Given the description of an element on the screen output the (x, y) to click on. 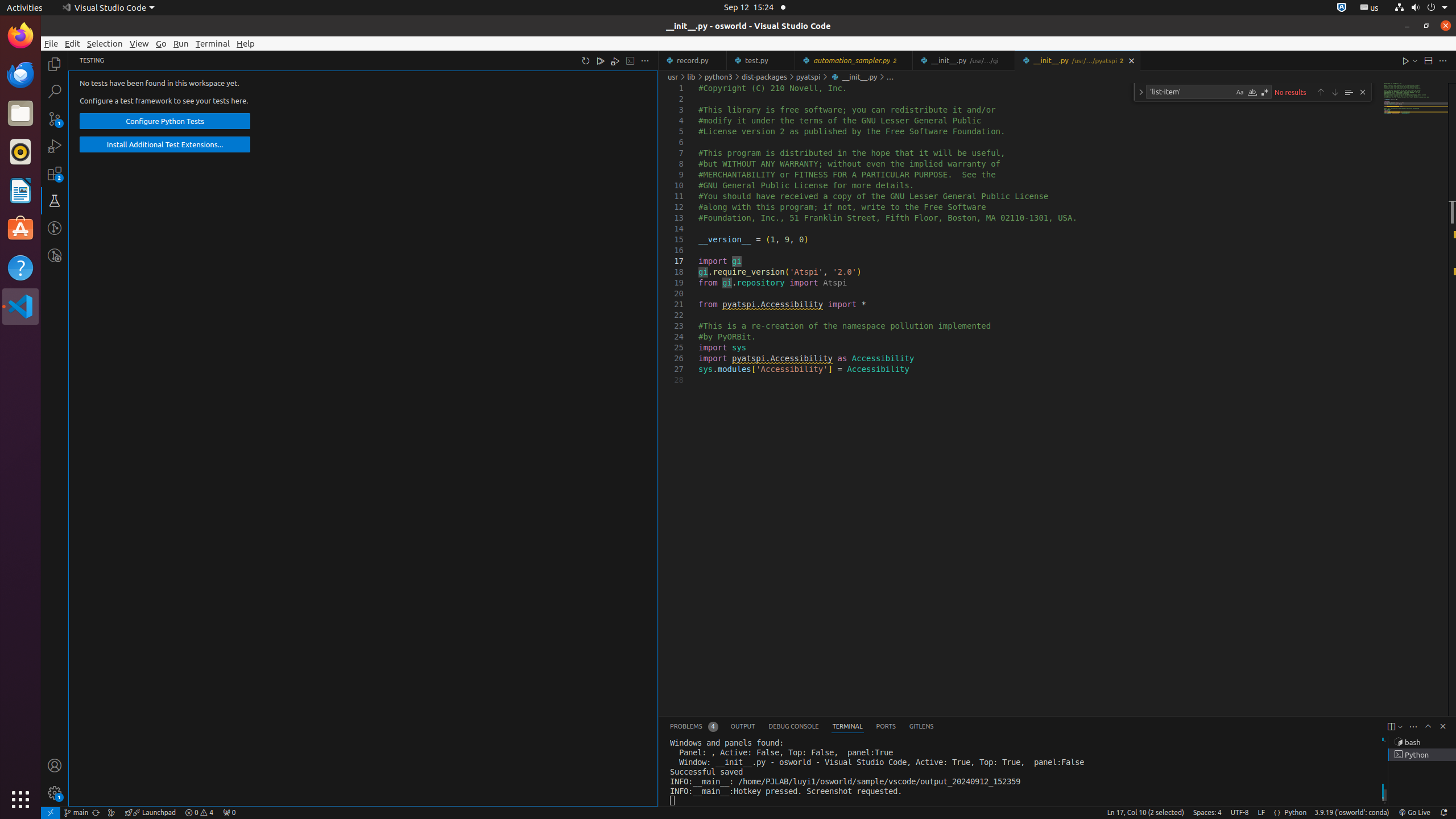
remote Element type: push-button (50, 812)
Explorer (Ctrl+Shift+E) Element type: page-tab (54, 63)
Debug Console (Ctrl+Shift+Y) Element type: page-tab (793, 726)
UTF-8 Element type: push-button (1239, 812)
